Given the description of an element on the screen output the (x, y) to click on. 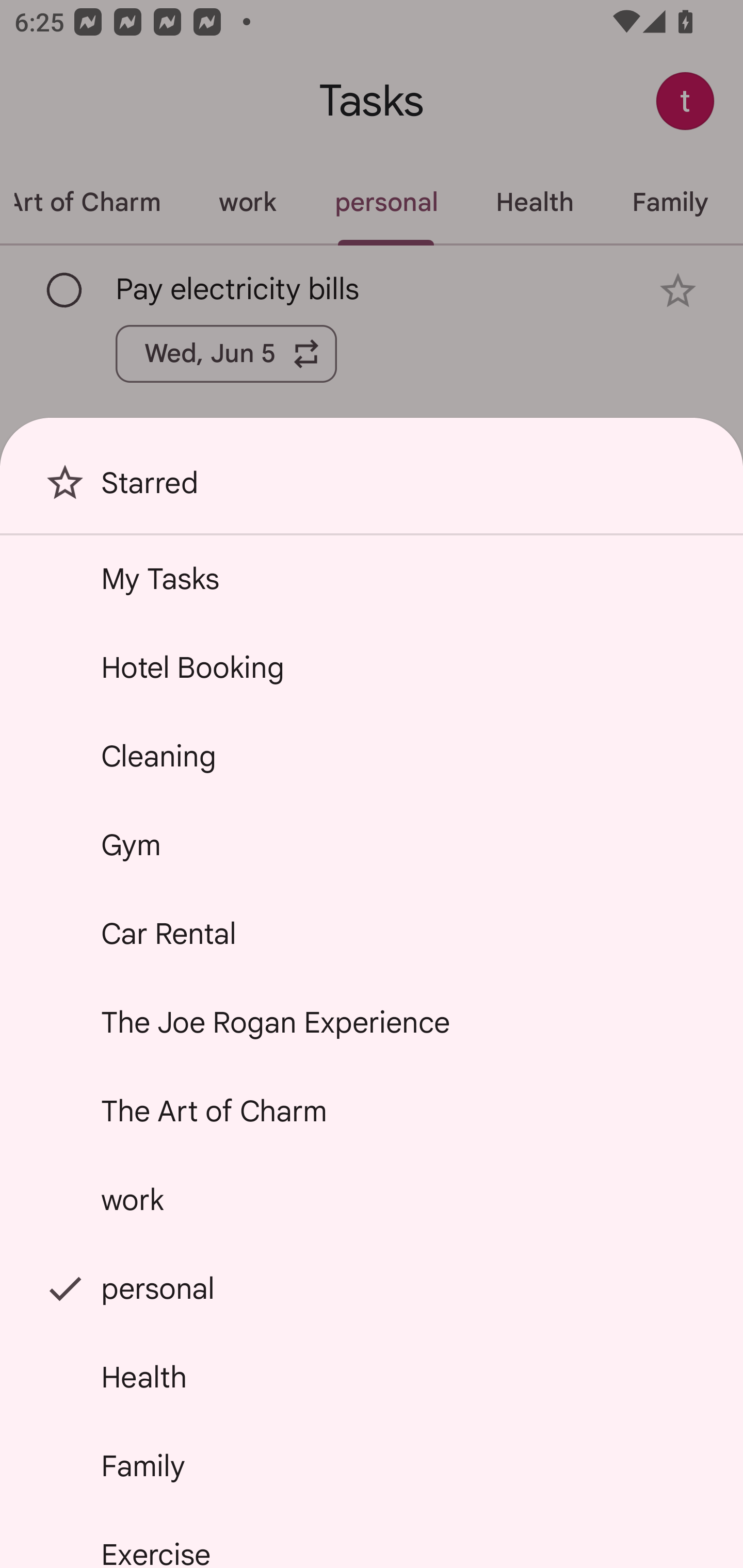
Starred (371, 489)
My Tasks (371, 578)
Hotel Booking (371, 667)
Cleaning (371, 756)
Gym (371, 844)
Car Rental (371, 933)
The Joe Rogan Experience (371, 1022)
The Art of Charm (371, 1110)
work (371, 1200)
personal (371, 1287)
Health (371, 1377)
Family (371, 1465)
Exercise (371, 1539)
